Given the description of an element on the screen output the (x, y) to click on. 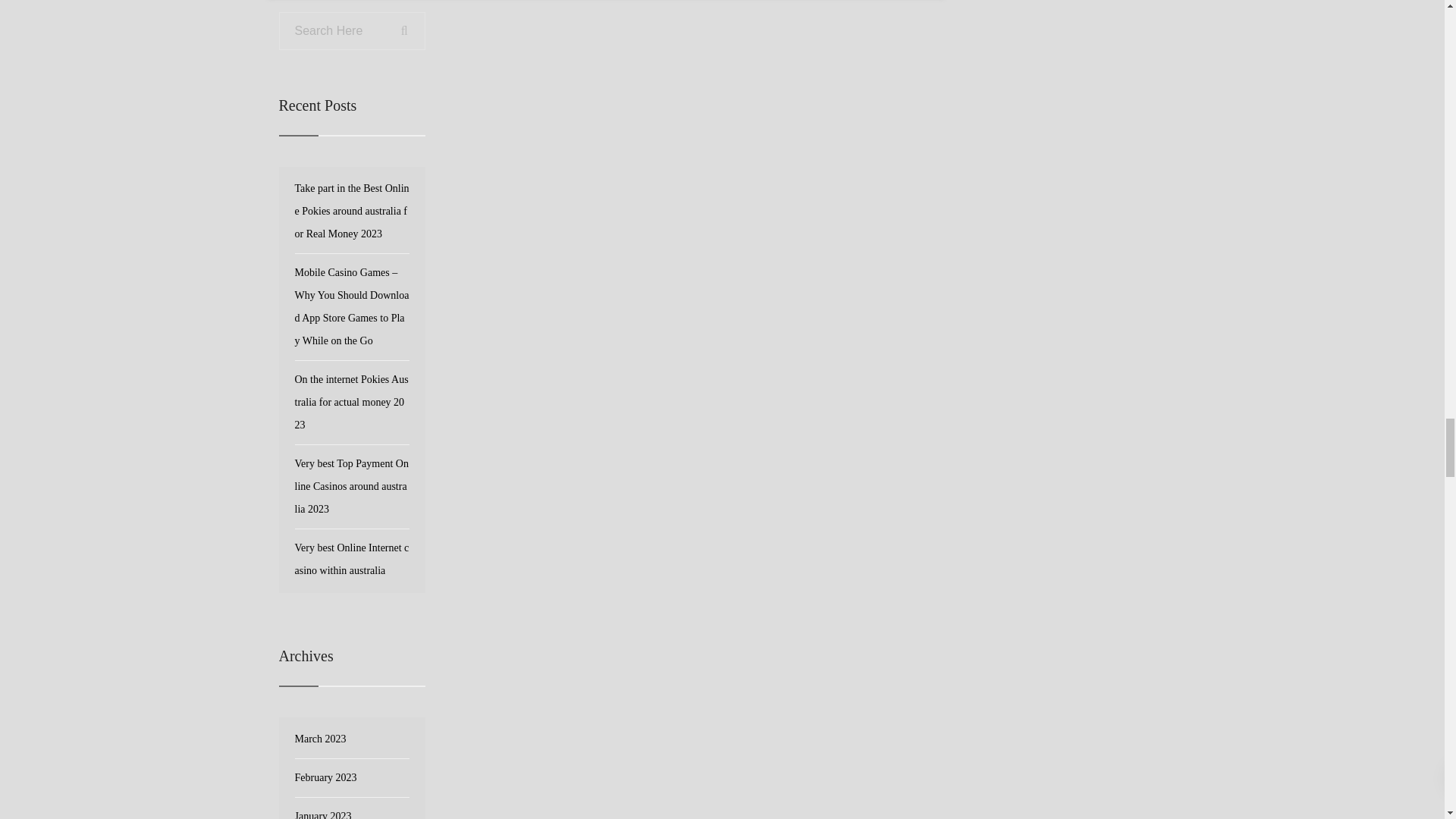
January 2023 (322, 812)
On the internet Pokies Australia for actual money 2023 (350, 401)
February 2023 (325, 777)
Very best Top Payment Online Casinos around australia 2023 (350, 486)
March 2023 (320, 739)
Very best Online Internet casino within australia (351, 559)
